Given the description of an element on the screen output the (x, y) to click on. 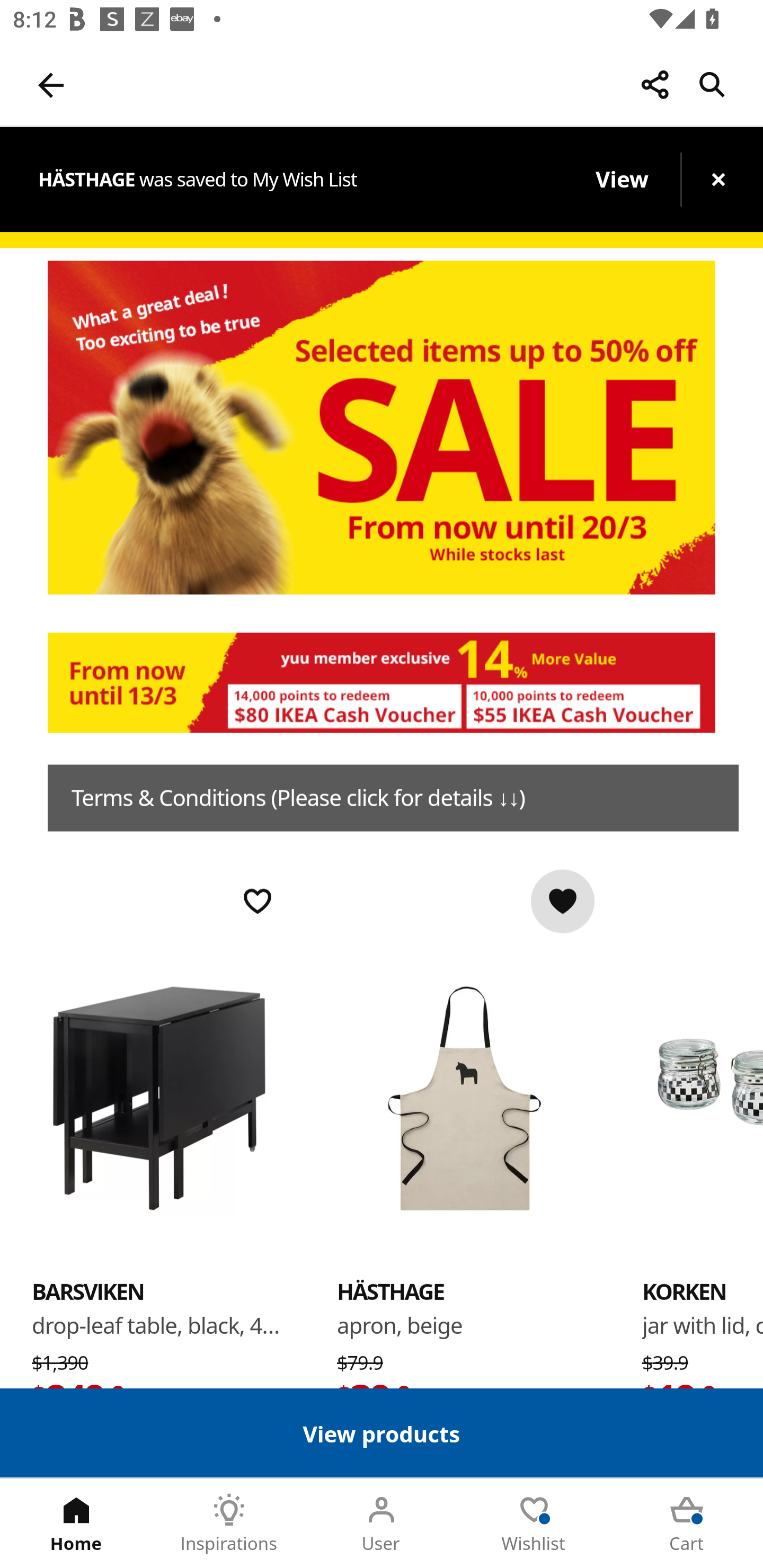
View (621, 179)
Terms & Conditions (Please click for details ↓↓) (393, 798)
BARSVIKEN (159, 1096)
HÄSTHAGE (464, 1096)
KORKEN (702, 1096)
BARSVIKEN (88, 1290)
HÄSTHAGE (390, 1290)
KORKEN (684, 1290)
View products (381, 1432)
Home
Tab 1 of 5 (76, 1522)
Inspirations
Tab 2 of 5 (228, 1522)
User
Tab 3 of 5 (381, 1522)
Wishlist
Tab 4 of 5 (533, 1522)
Cart
Tab 5 of 5 (686, 1522)
